Given the description of an element on the screen output the (x, y) to click on. 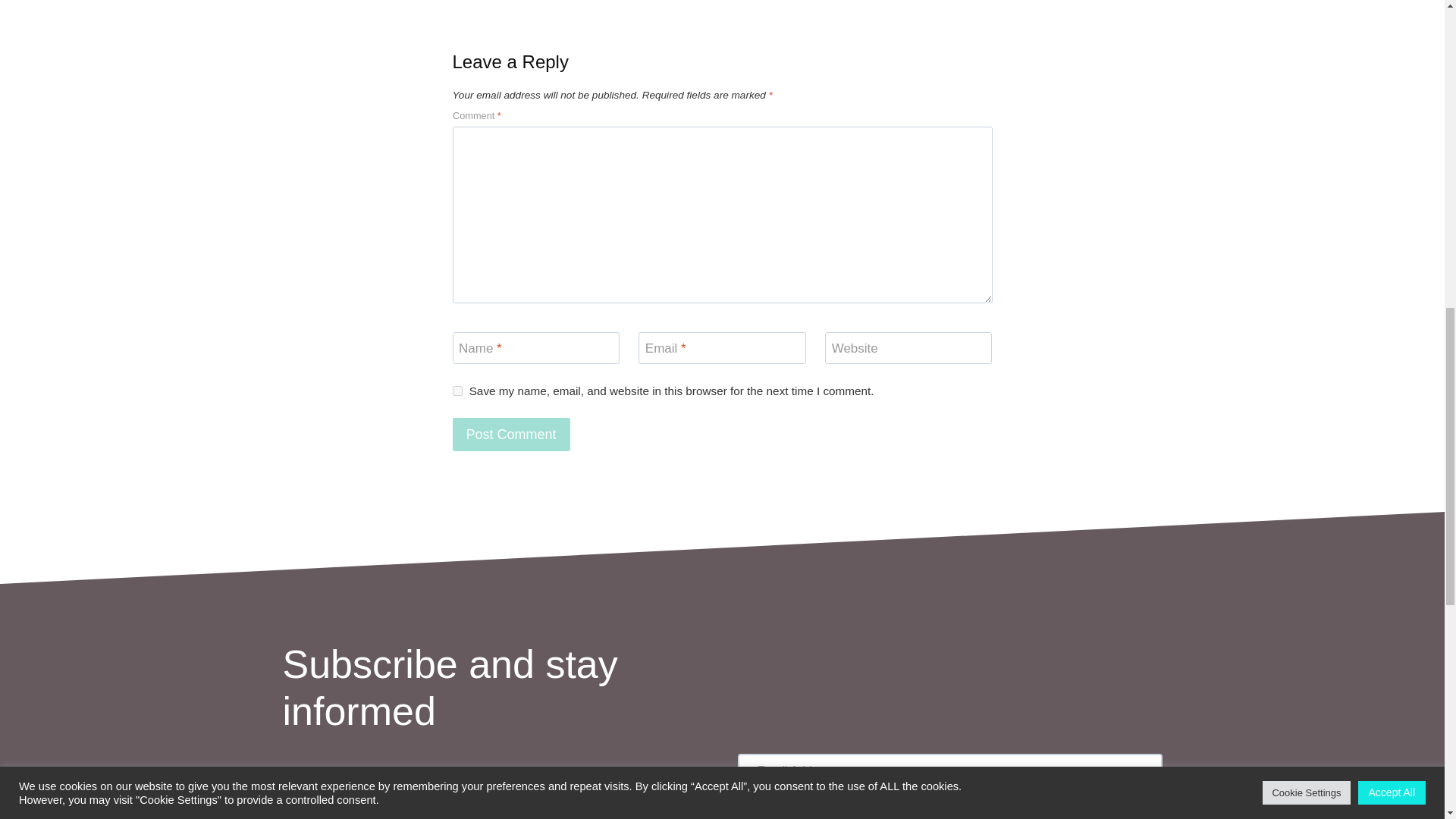
Post Comment (510, 433)
SUBSCRIBE (948, 809)
yes (456, 390)
Post Comment (510, 433)
